Given the description of an element on the screen output the (x, y) to click on. 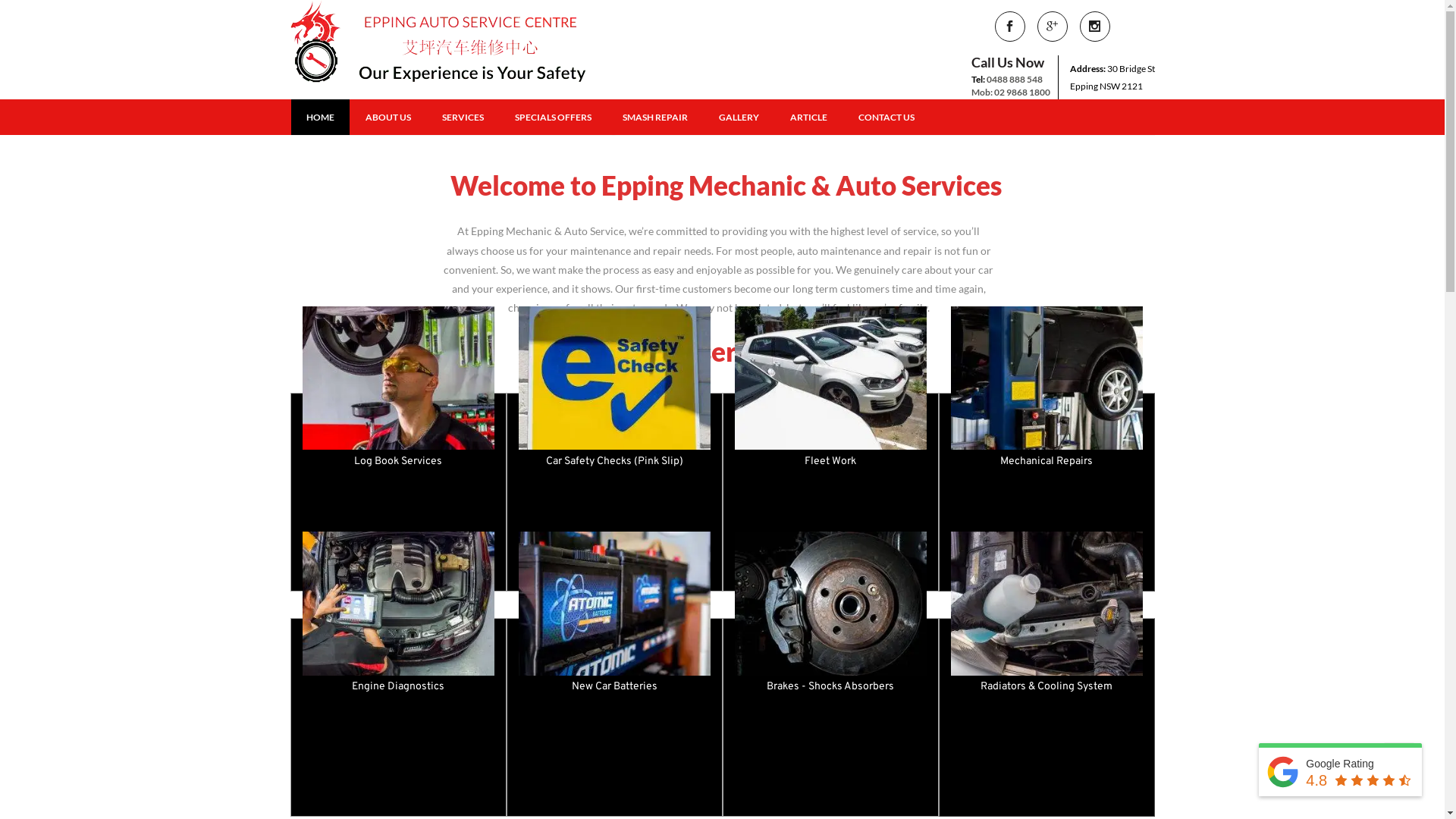
SERVICES Element type: text (462, 116)
ARTICLE Element type: text (808, 116)
SPECIALS OFFERS Element type: text (551, 116)
GALLERY Element type: text (738, 116)
0488 888 548
Mob: 02 9868 1800 Element type: text (1009, 85)
Book Element type: text (398, 785)
Book Element type: text (614, 777)
Gplus Element type: hover (1052, 26)
SMASH REPAIR Element type: text (654, 116)
Book Element type: text (1046, 785)
Book Element type: text (398, 552)
instagrem Element type: hover (1094, 26)
Facebook Element type: hover (1009, 26)
Book Element type: text (1046, 544)
CONTACT US Element type: text (886, 116)
Book Element type: text (830, 793)
ABOUT US Element type: text (388, 116)
Book Element type: text (614, 544)
Book Element type: text (830, 544)
HOME Element type: text (320, 116)
